Given the description of an element on the screen output the (x, y) to click on. 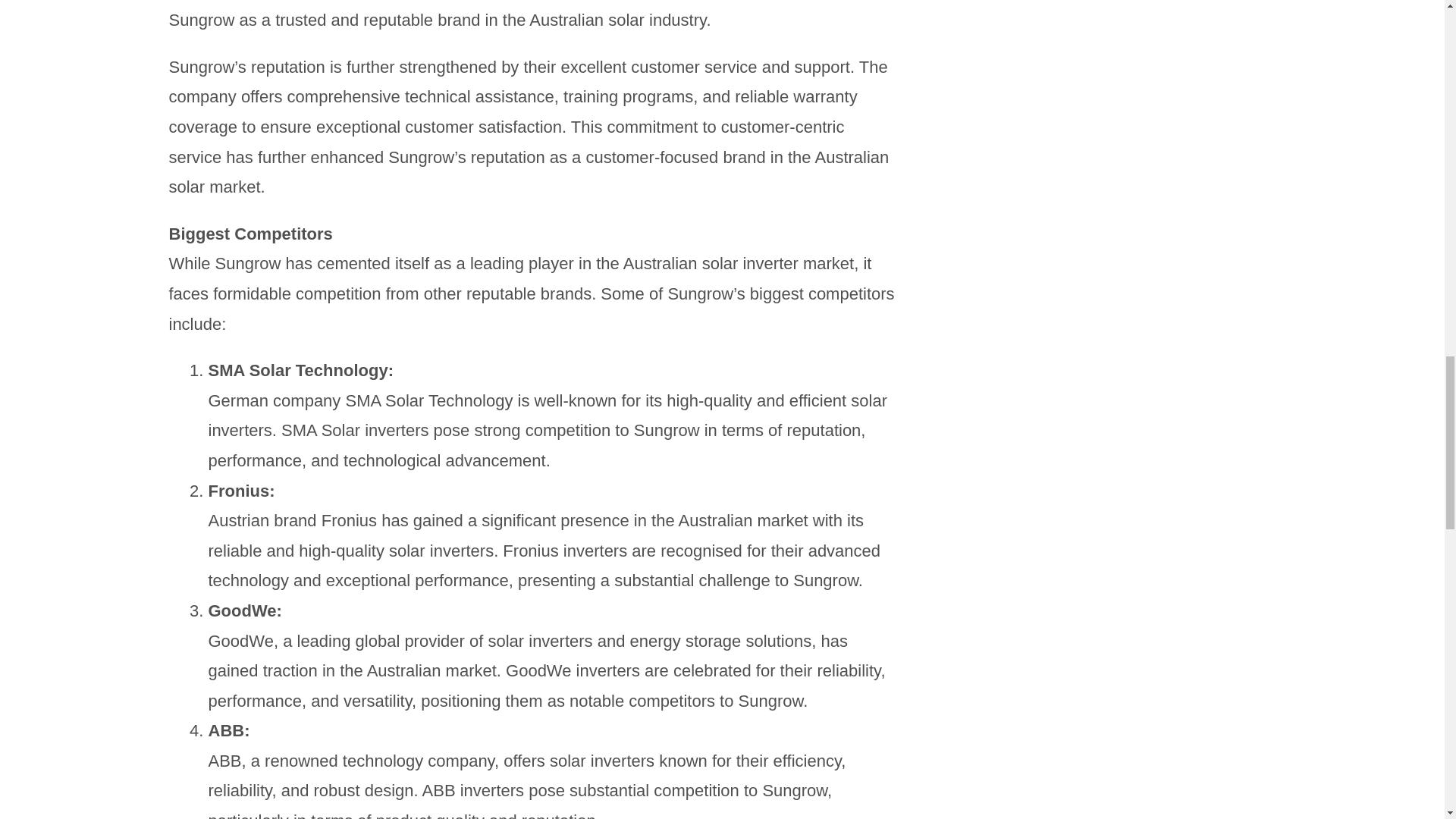
SMA Solar Technology: (300, 370)
Fronius: (241, 490)
GoodWe: (244, 610)
ABB: (228, 730)
